Given the description of an element on the screen output the (x, y) to click on. 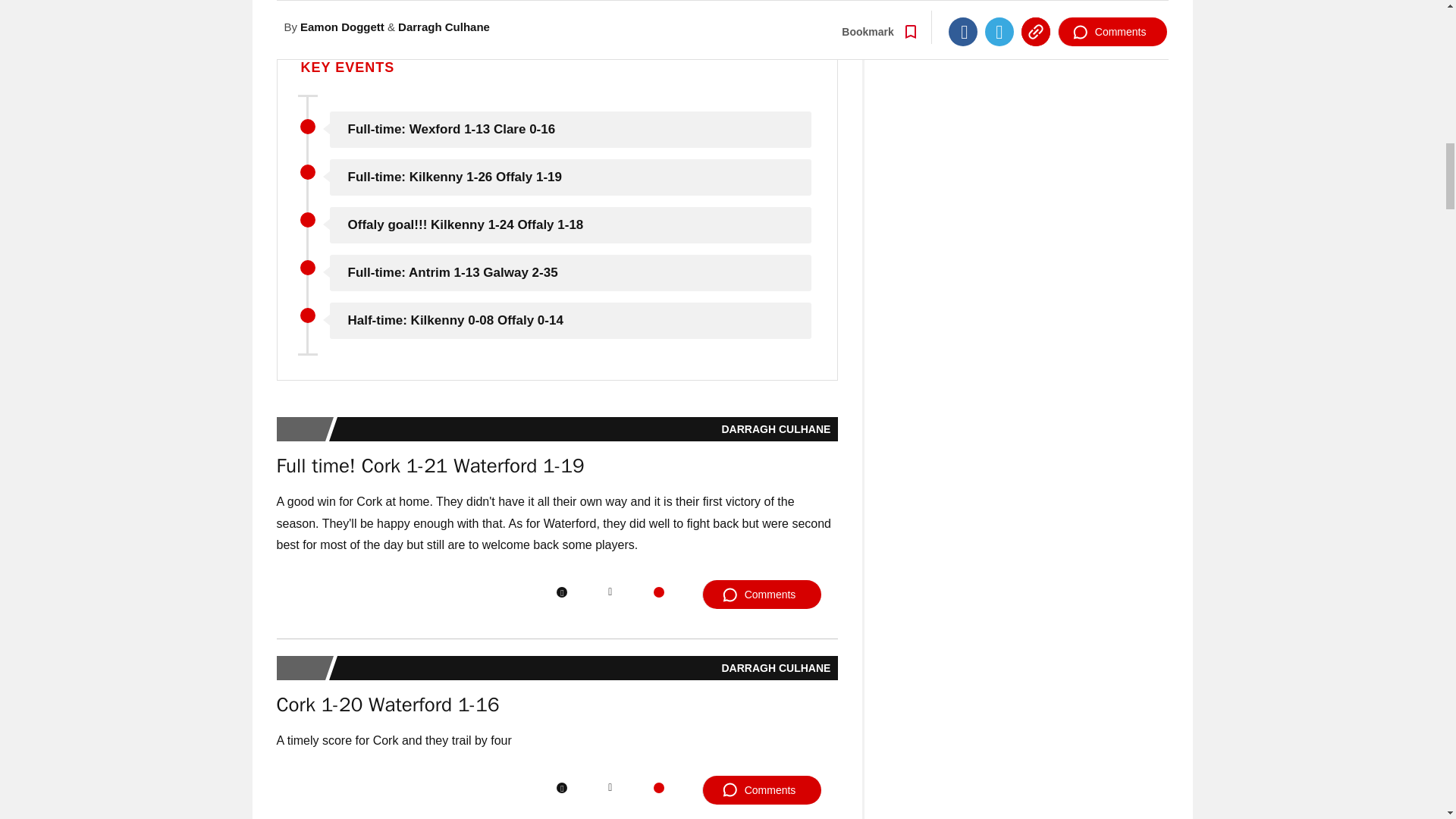
Twitter (610, 787)
Comments (761, 594)
Twitter (610, 592)
Facebook (561, 592)
Facebook (561, 787)
Comments (761, 789)
